Given the description of an element on the screen output the (x, y) to click on. 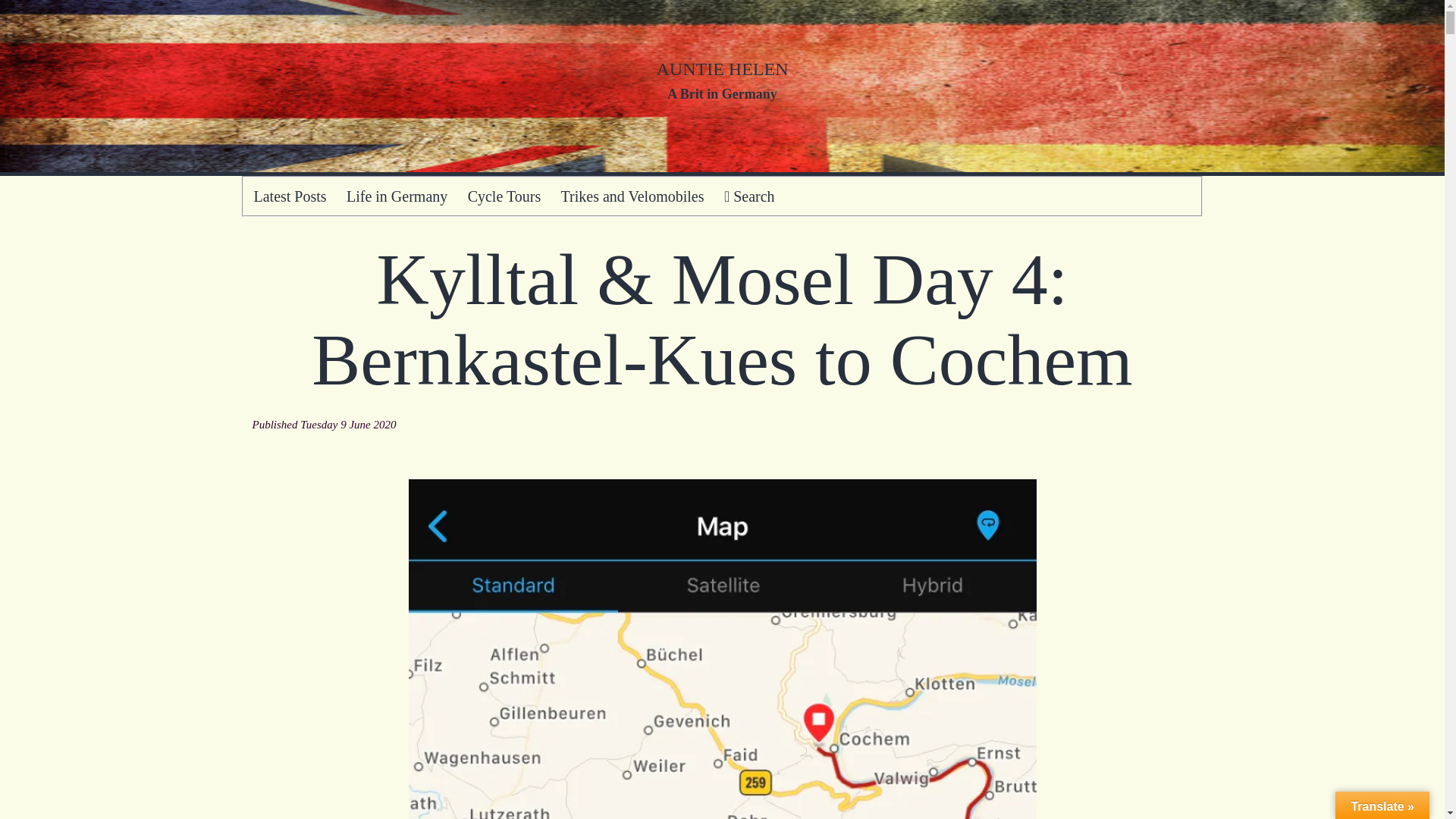
AUNTIE HELEN (722, 68)
Trikes and Velomobiles (631, 196)
Latest Posts (289, 196)
Life in Germany (397, 196)
Cycle Tours (503, 196)
